Given the description of an element on the screen output the (x, y) to click on. 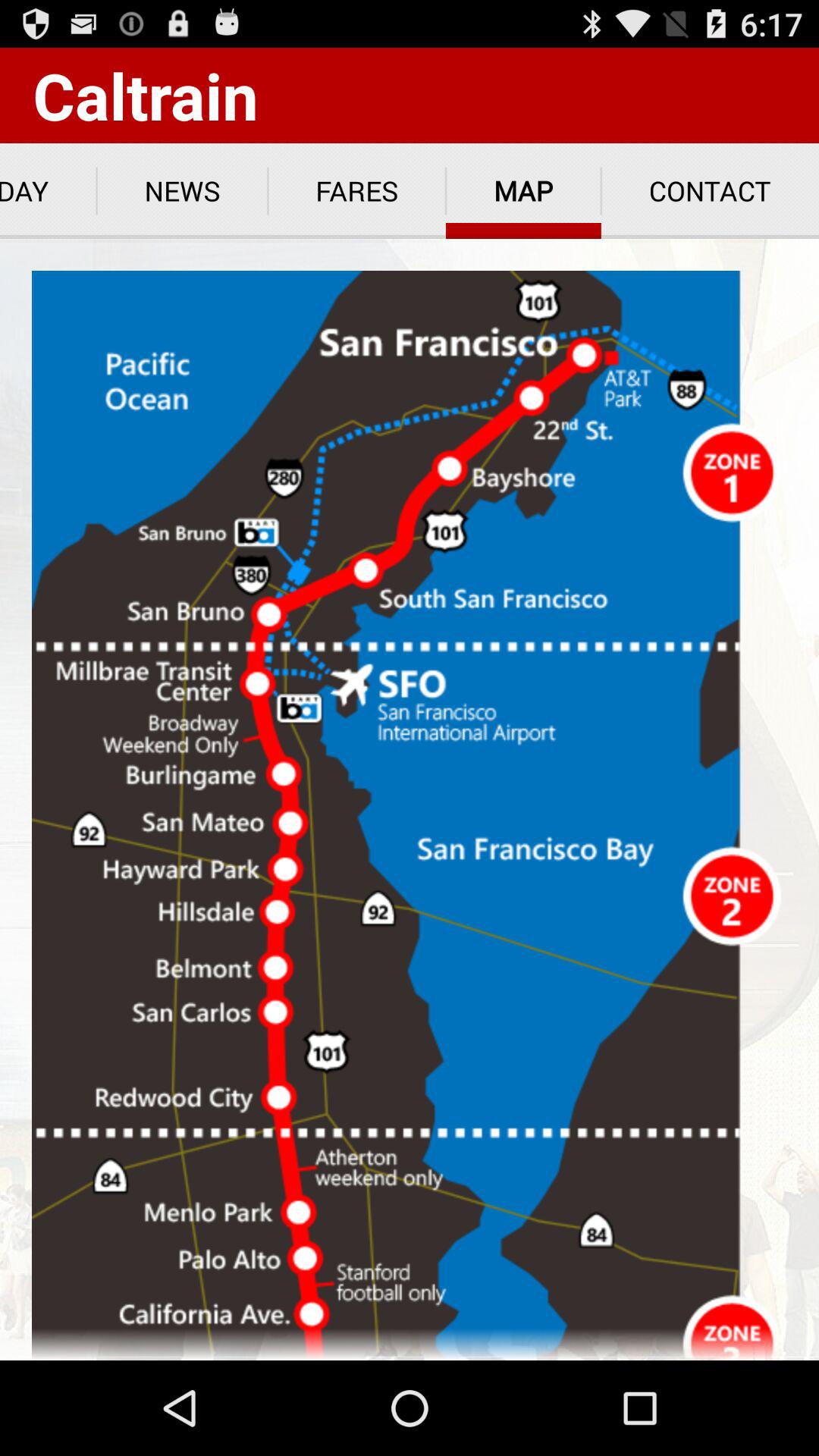
turn on today item (48, 190)
